Given the description of an element on the screen output the (x, y) to click on. 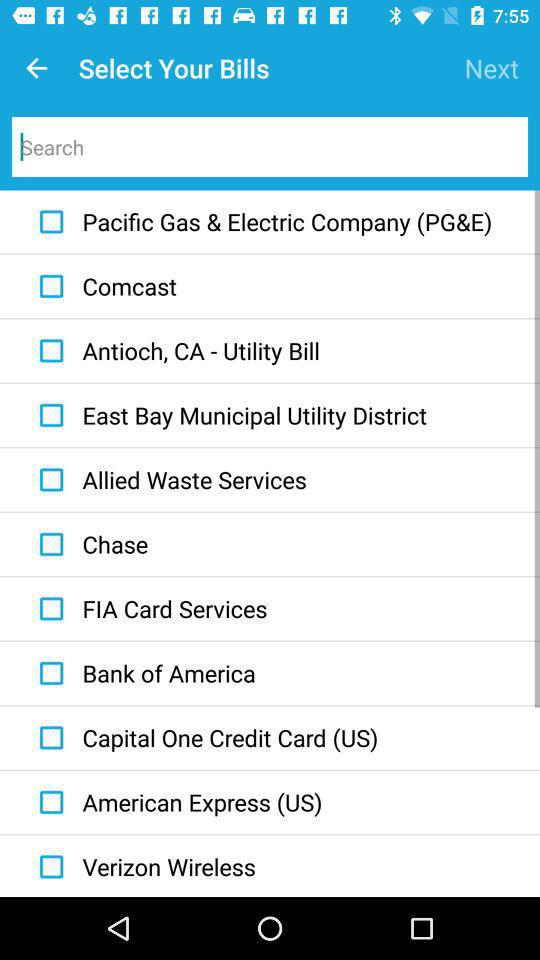
turn on the item below american express (us) icon (142, 867)
